Given the description of an element on the screen output the (x, y) to click on. 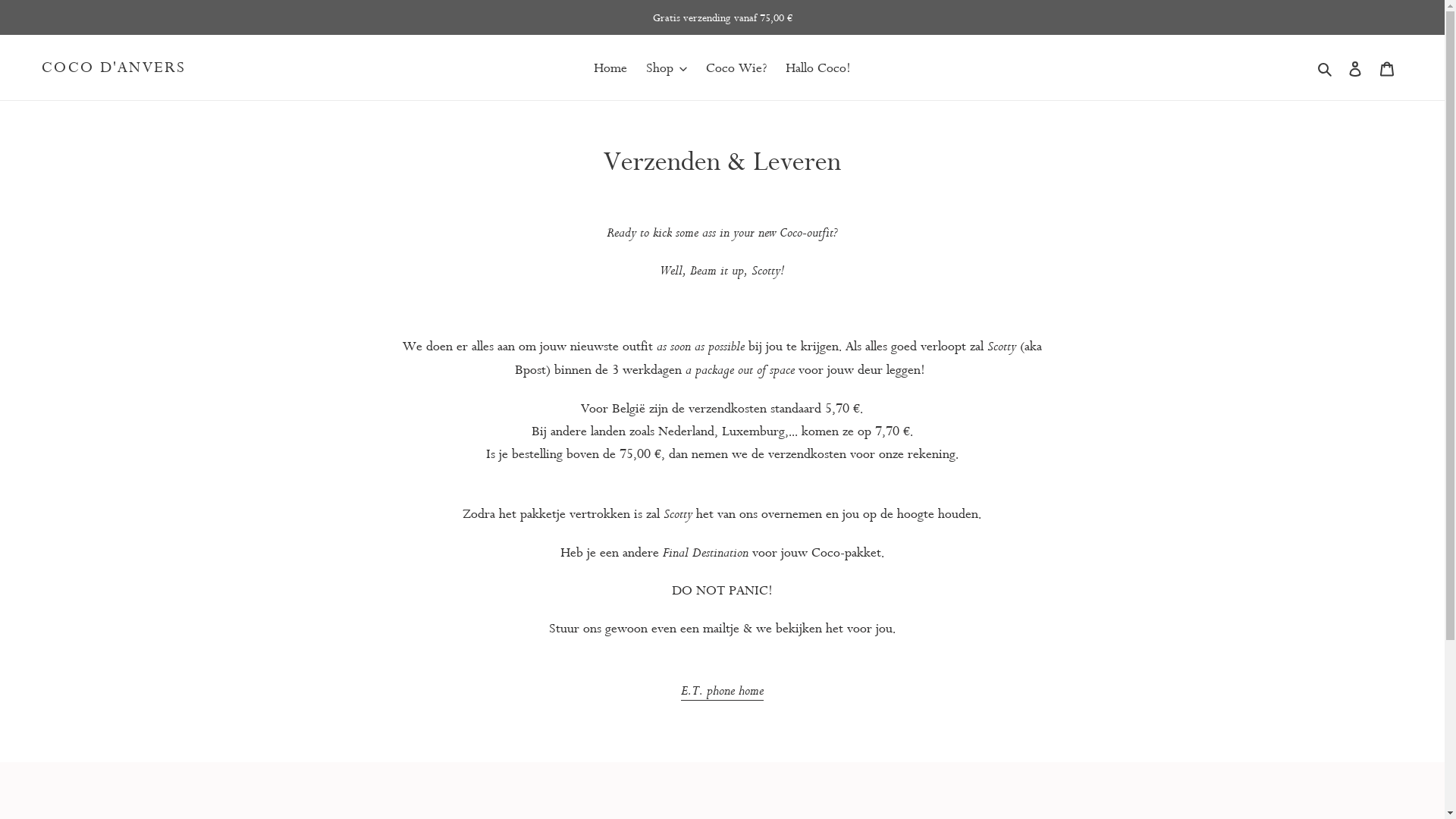
Coco Wie? Element type: text (736, 67)
Winkelwagen Element type: text (1386, 67)
Hallo Coco! Element type: text (818, 67)
Home Element type: text (610, 67)
E.T. phone home Element type: text (721, 689)
COCO D'ANVERS Element type: text (113, 67)
Zoeken Element type: text (1325, 67)
Aanmelden Element type: text (1355, 67)
Shop Element type: text (666, 67)
